Given the description of an element on the screen output the (x, y) to click on. 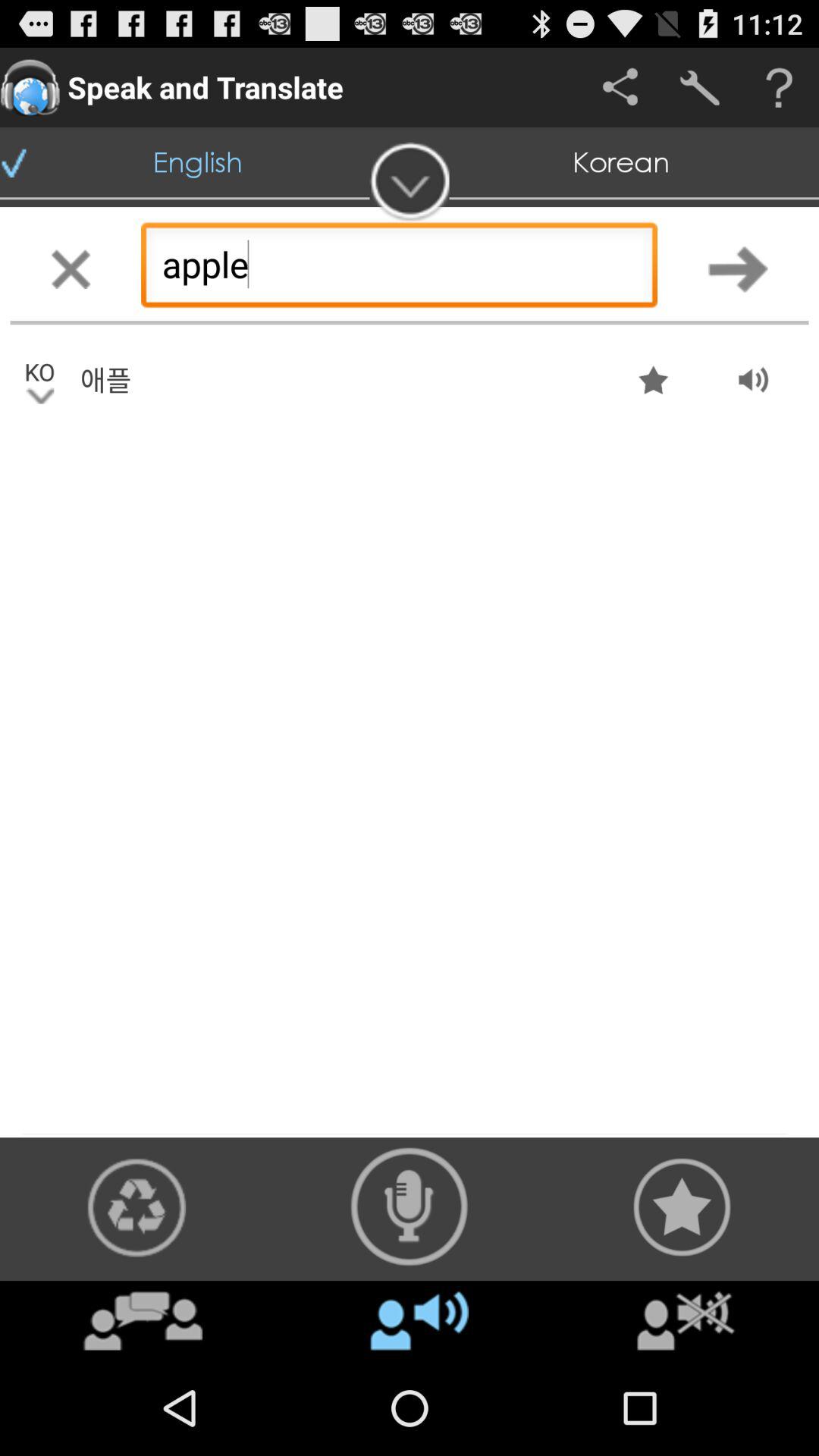
click to recycle (136, 1206)
